Given the description of an element on the screen output the (x, y) to click on. 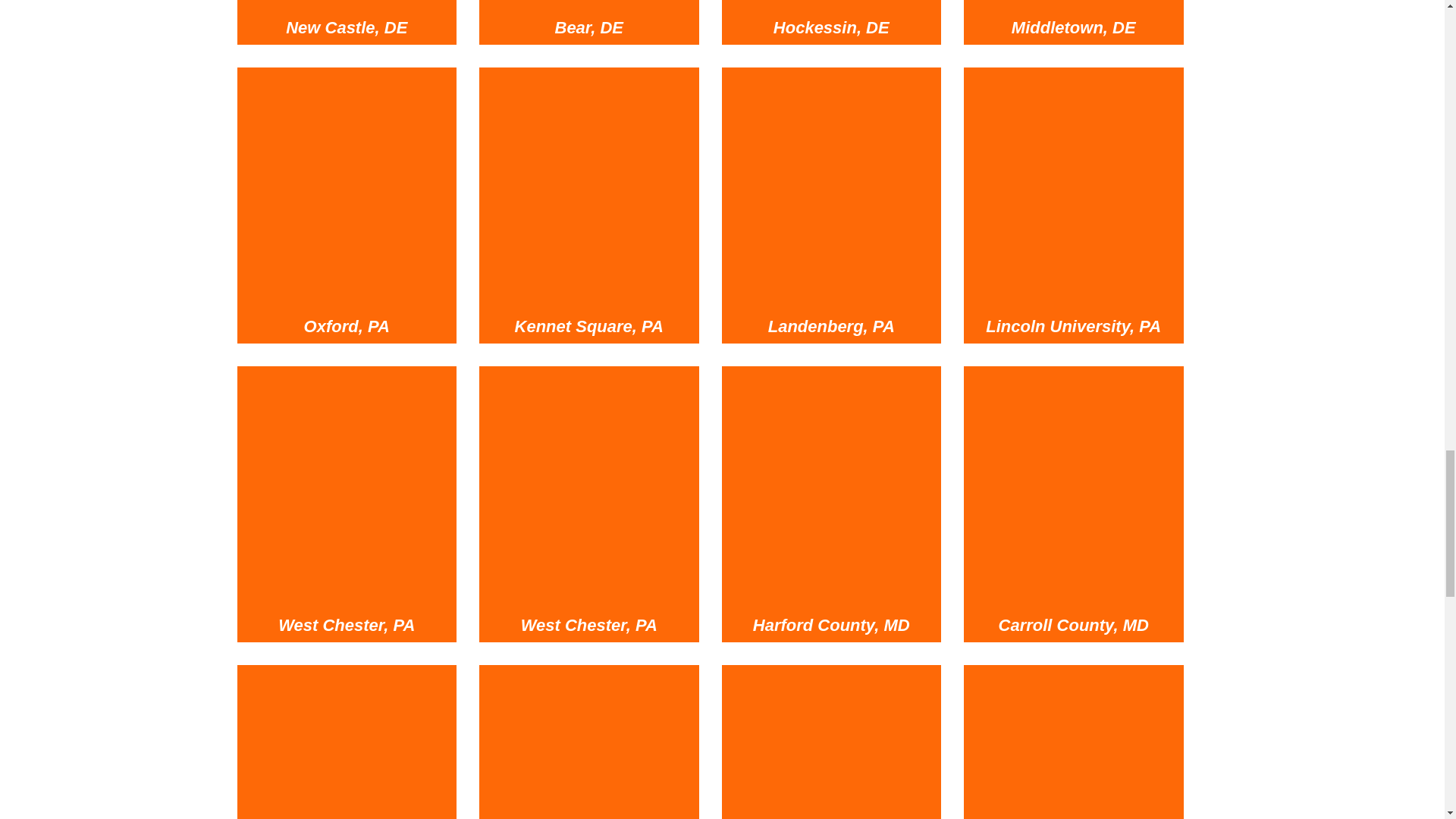
New Castle, DE (346, 2)
